Given the description of an element on the screen output the (x, y) to click on. 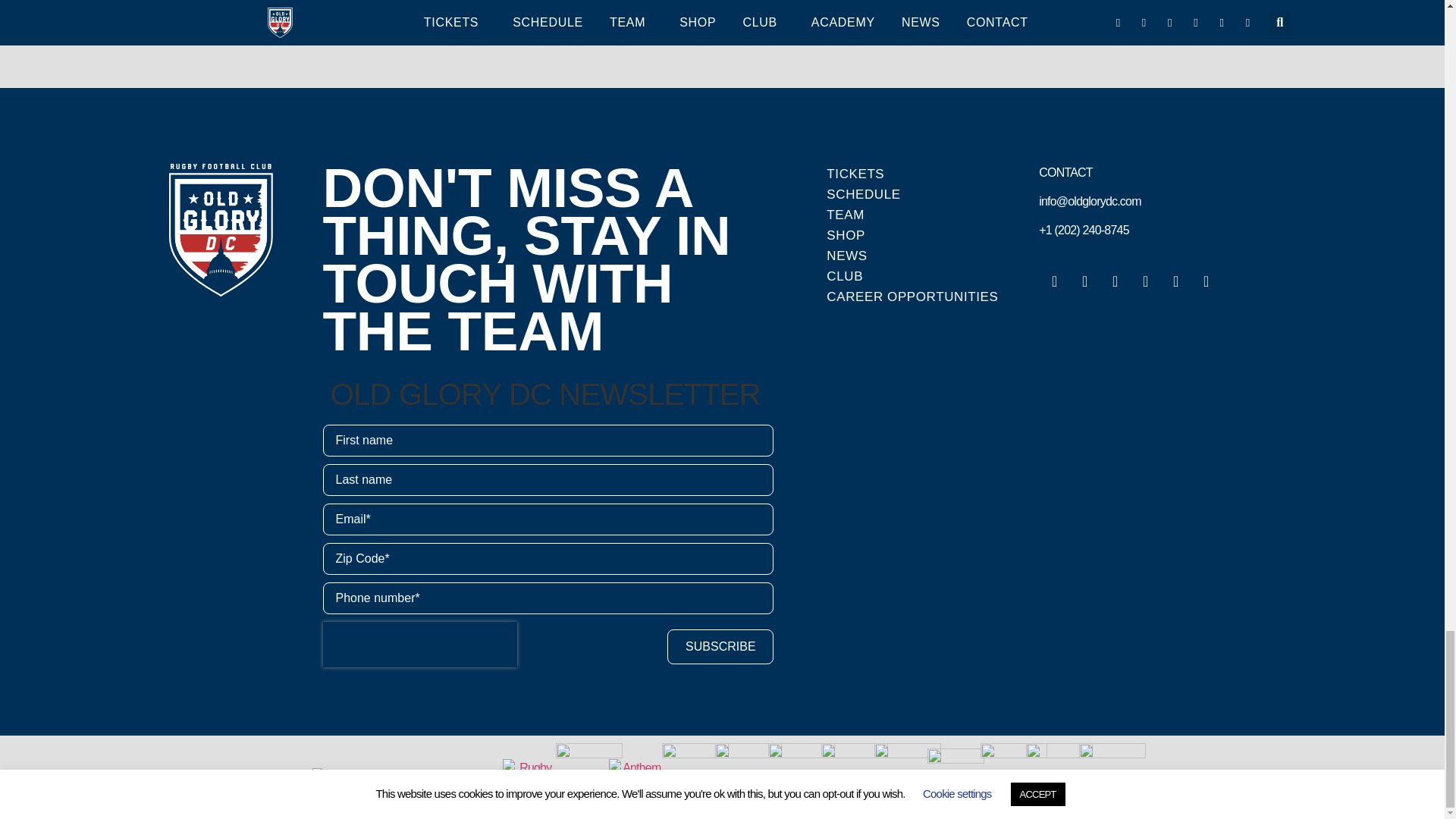
Anthem RC (635, 777)
reCAPTCHA (419, 644)
Rugby FCLA (529, 777)
SUBSCRIBE (719, 646)
